Given the description of an element on the screen output the (x, y) to click on. 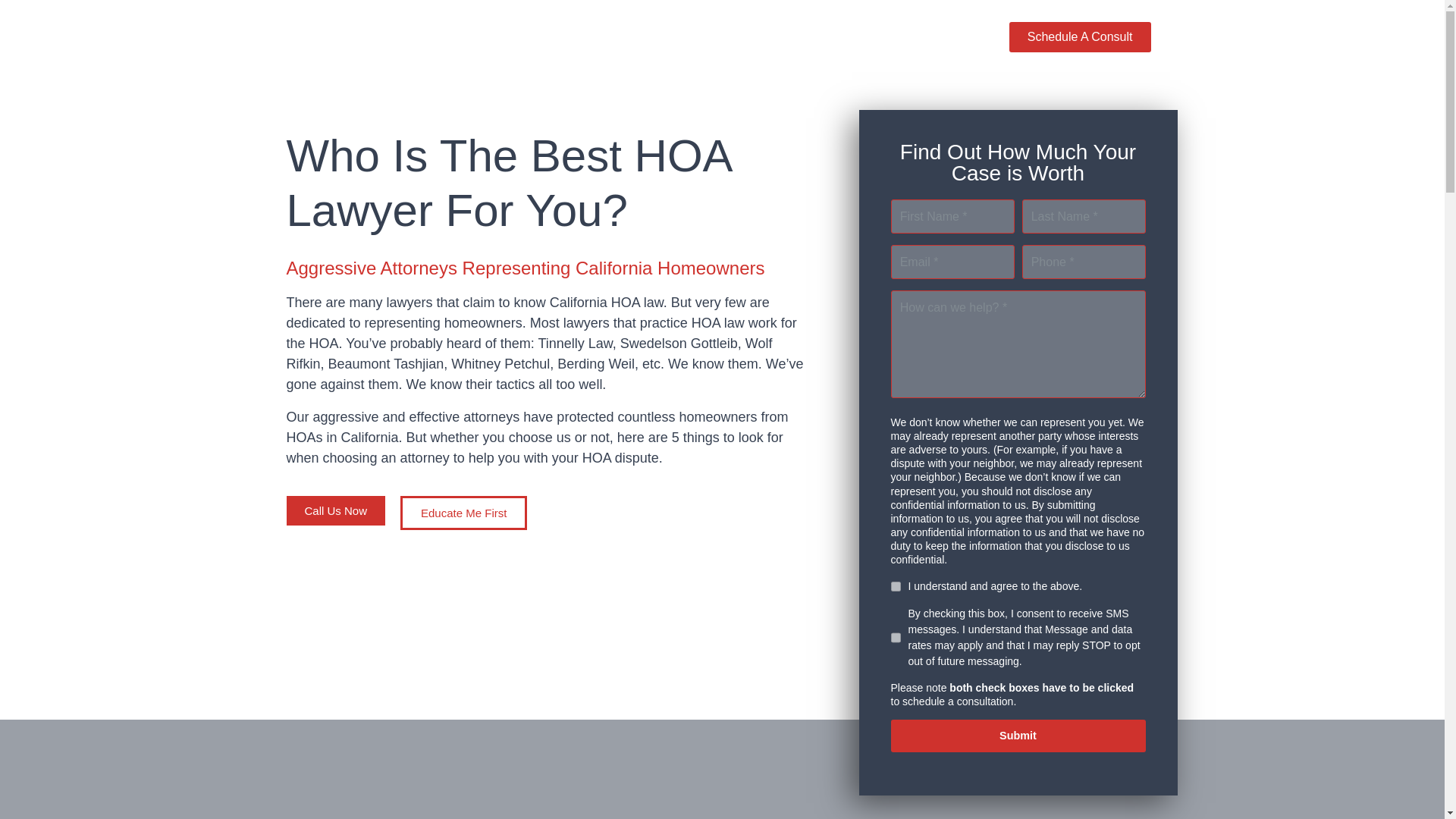
Schedule A Consult (1080, 37)
Submit (1016, 735)
Educate Me First (463, 512)
Submit (1016, 735)
Call Us Now (335, 510)
